Given the description of an element on the screen output the (x, y) to click on. 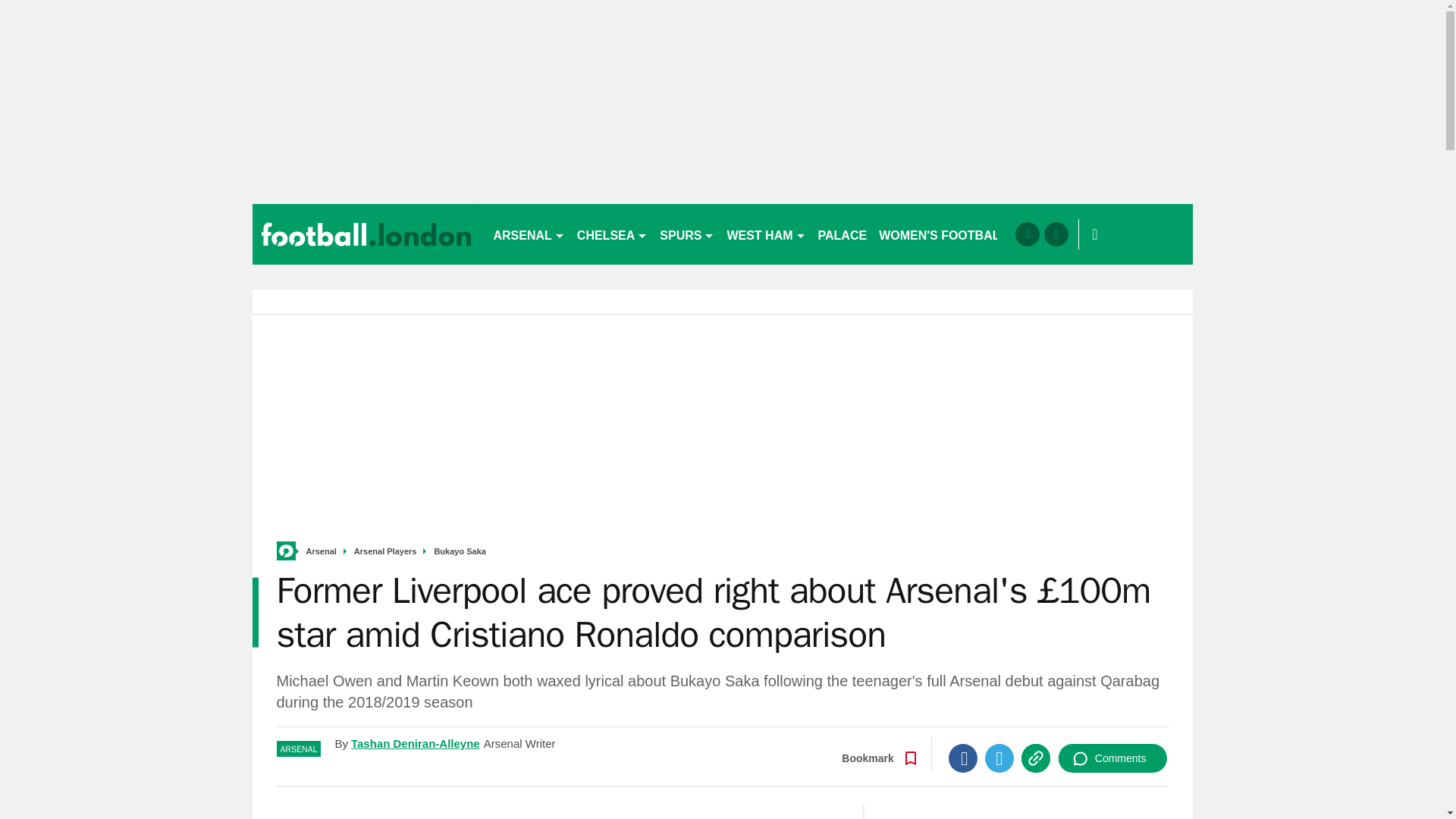
twitter (1055, 233)
WEST HAM (765, 233)
Twitter (999, 758)
CHELSEA (611, 233)
Facebook (962, 758)
SPURS (686, 233)
footballlondon (365, 233)
PALACE (842, 233)
facebook (1026, 233)
Comments (1112, 758)
ARSENAL (528, 233)
WOMEN'S FOOTBALL (942, 233)
